Given the description of an element on the screen output the (x, y) to click on. 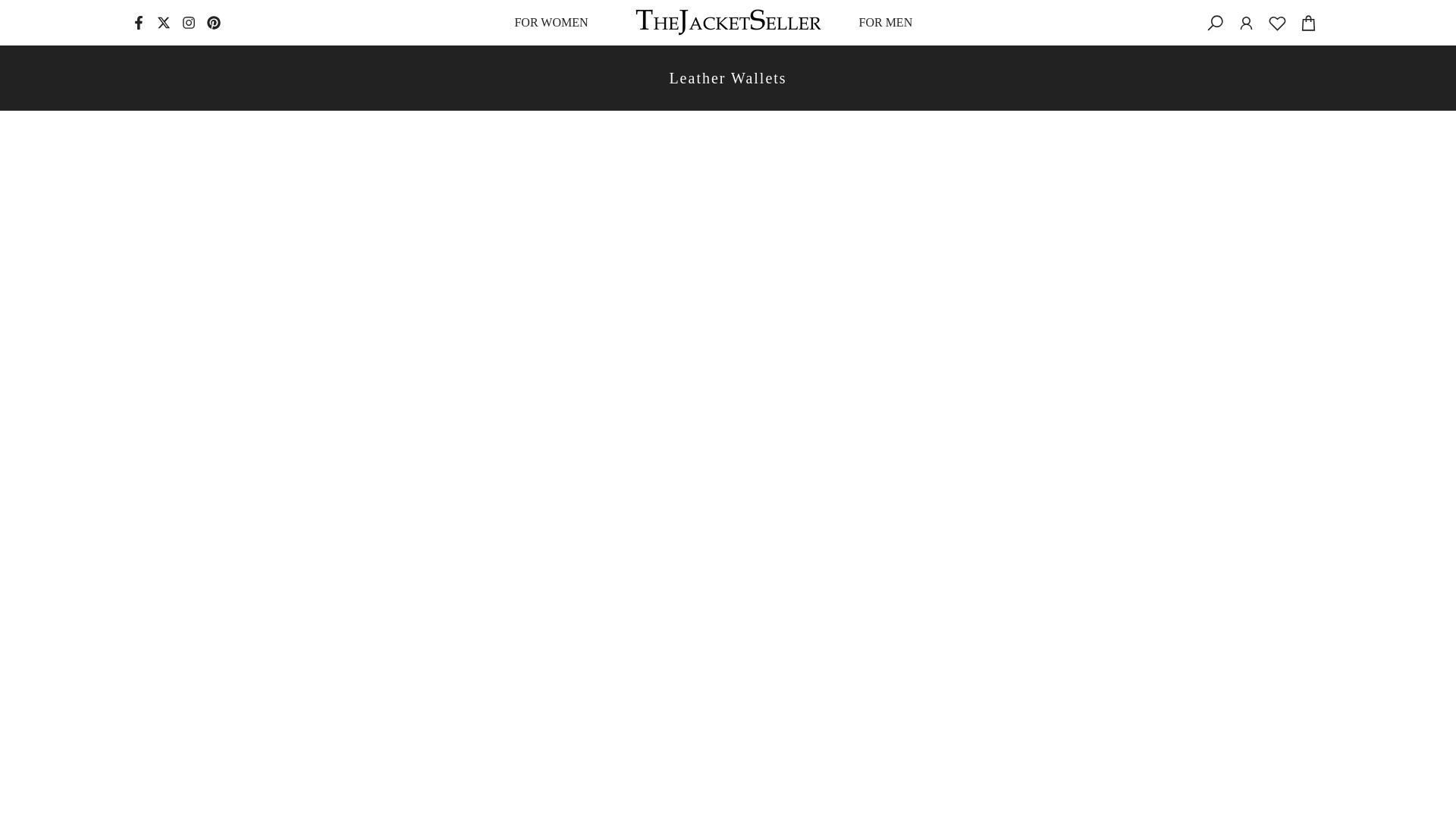
Follow on Twitter (163, 22)
Follow on Pinterest (213, 22)
FOR WOMEN (555, 22)
Skip to content (10, 7)
FOR MEN (889, 22)
Follow on Facebook (138, 22)
Follow on Instagram (188, 22)
